Given the description of an element on the screen output the (x, y) to click on. 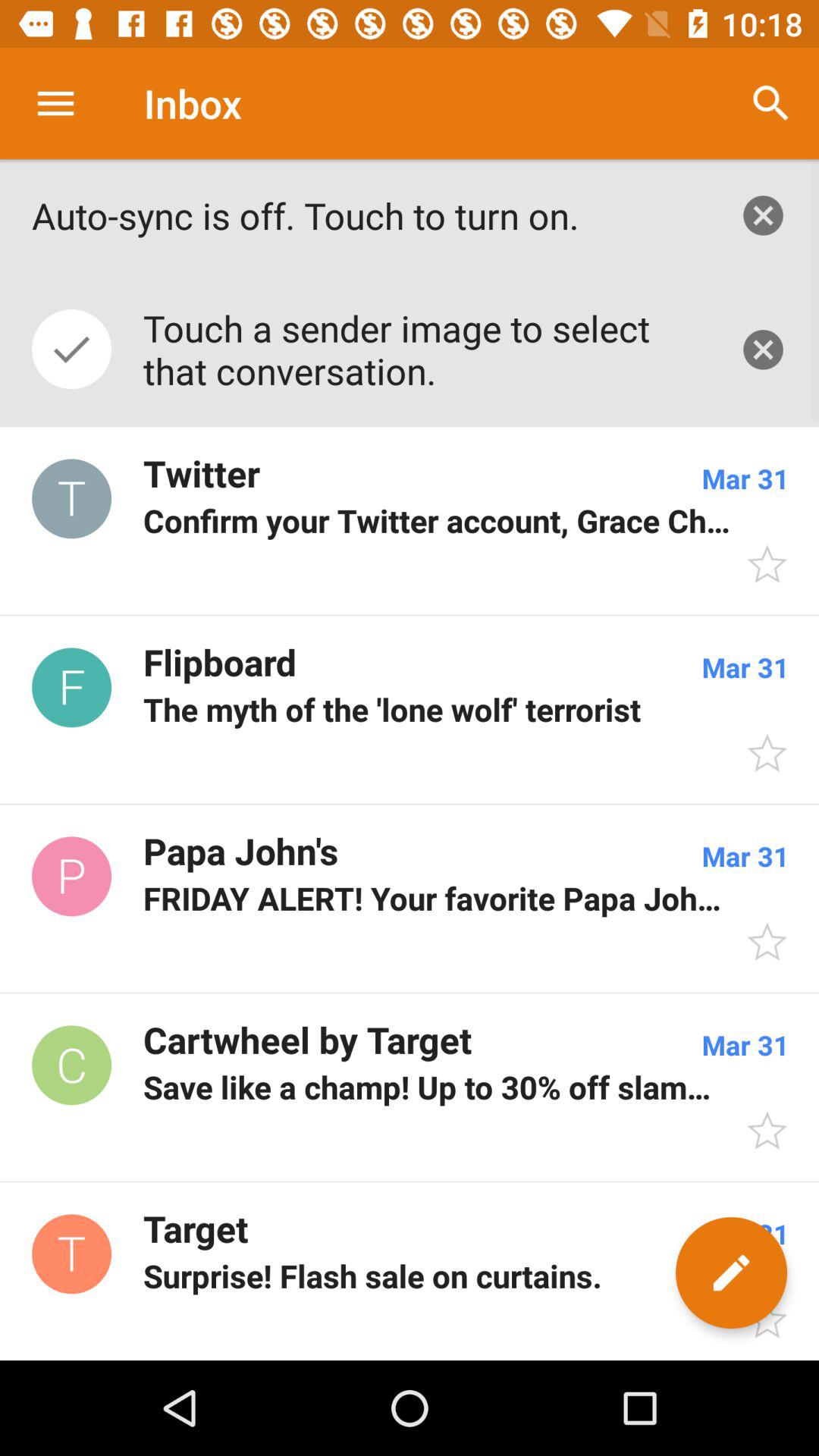
select item at the bottom right corner (731, 1272)
